Given the description of an element on the screen output the (x, y) to click on. 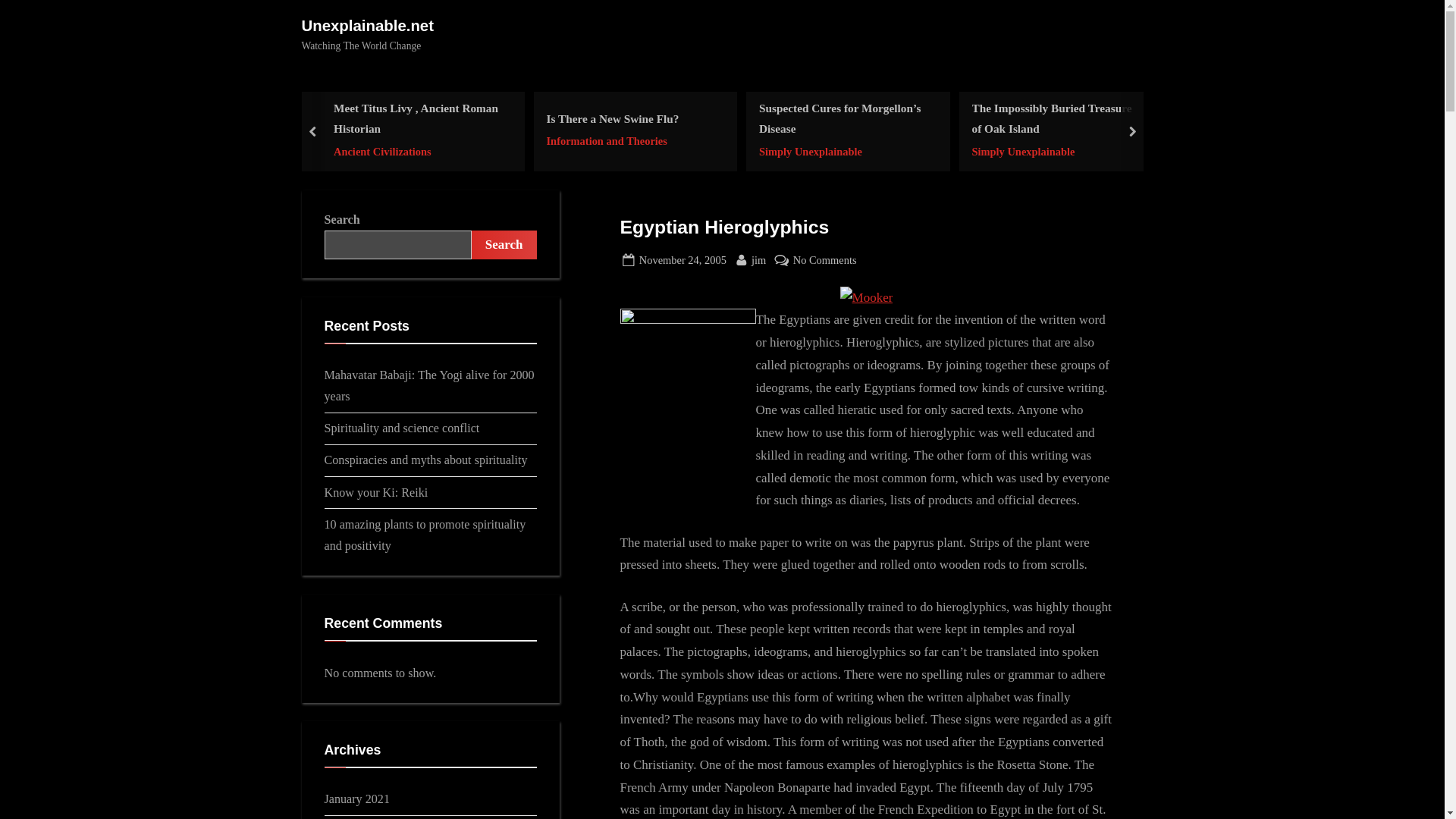
Information and Theories (612, 140)
The Impossibly Buried Treasure of Oak Island (1055, 118)
Is There a New Swine Flu? (612, 118)
Ancient Civilizations (417, 150)
Simply Unexplainable (842, 150)
Meet Titus Livy , Ancient Roman Historian (417, 118)
Unexplainable.net (367, 25)
Simply Unexplainable (825, 260)
